Given the description of an element on the screen output the (x, y) to click on. 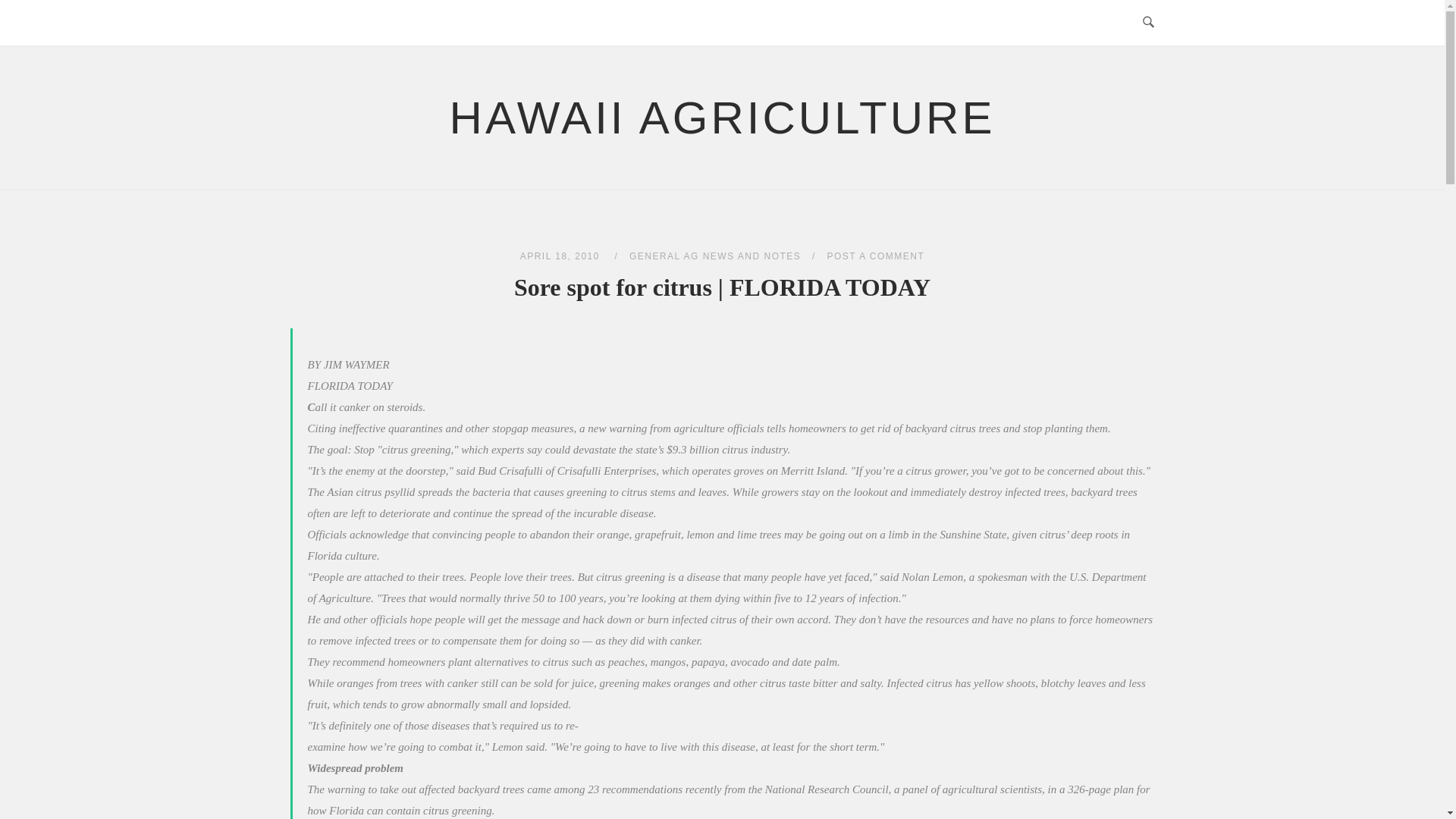
POST A COMMENT (875, 255)
HAWAII AGRICULTURE (722, 117)
GENERAL AG NEWS AND NOTES (714, 255)
